Given the description of an element on the screen output the (x, y) to click on. 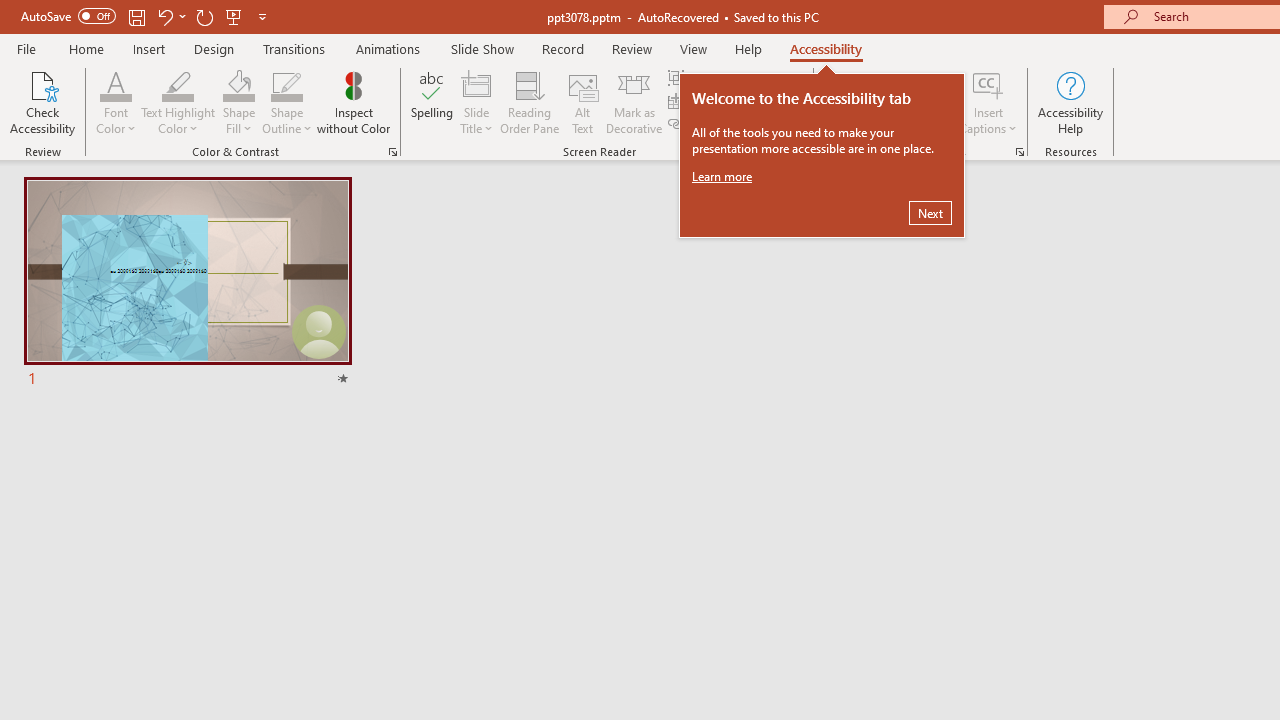
Mark as Decorative (634, 102)
Alt Text (582, 102)
Subtitle Settings (884, 119)
Accessibility Help (1070, 102)
Spelling... (432, 102)
Insert Header Row (727, 101)
